Given the description of an element on the screen output the (x, y) to click on. 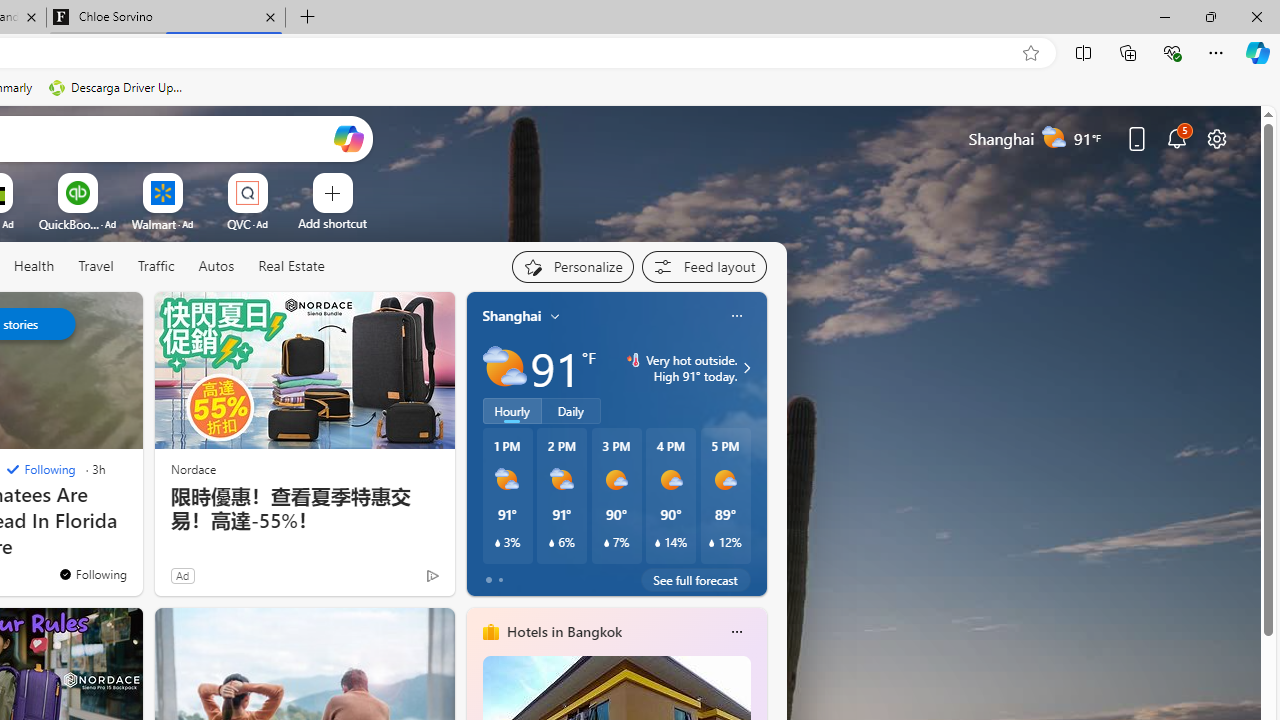
Personalize your feed" (571, 266)
Add a site (332, 223)
Open Copilot (347, 138)
Partly sunny (504, 368)
Hourly (511, 411)
Travel (95, 265)
Ad Choice (432, 575)
You're following The Weather Channel (92, 573)
See more (118, 632)
hotels-header-icon (490, 632)
